Given the description of an element on the screen output the (x, y) to click on. 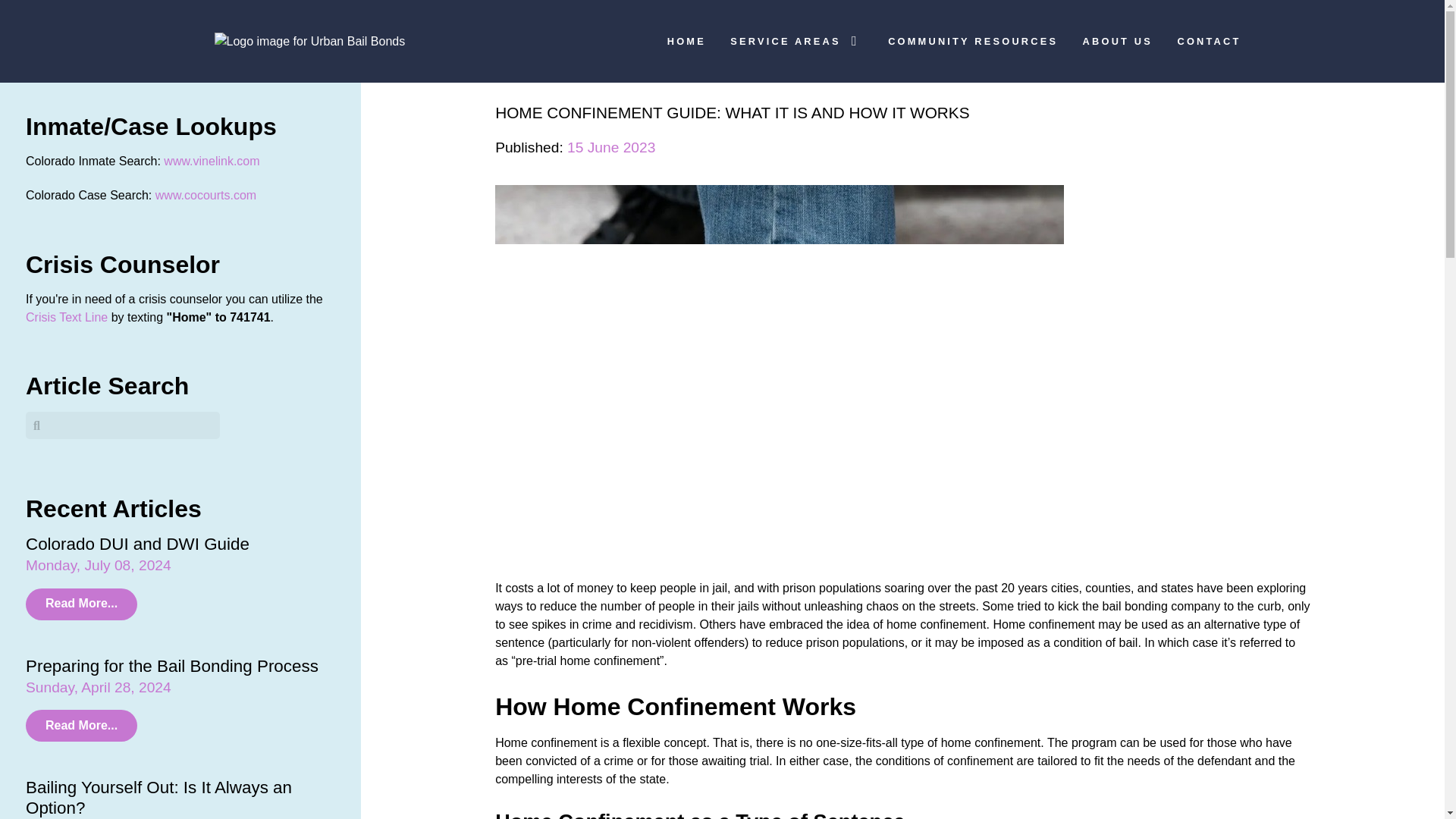
CONTACT (1208, 39)
15 June 2023 (611, 147)
Read More... (81, 726)
HOME (686, 39)
www.vinelink.com (211, 160)
COMMUNITY RESOURCES (973, 39)
Colorado DUI and DWI Guide (137, 543)
www.cocourts.com (205, 195)
